Given the description of an element on the screen output the (x, y) to click on. 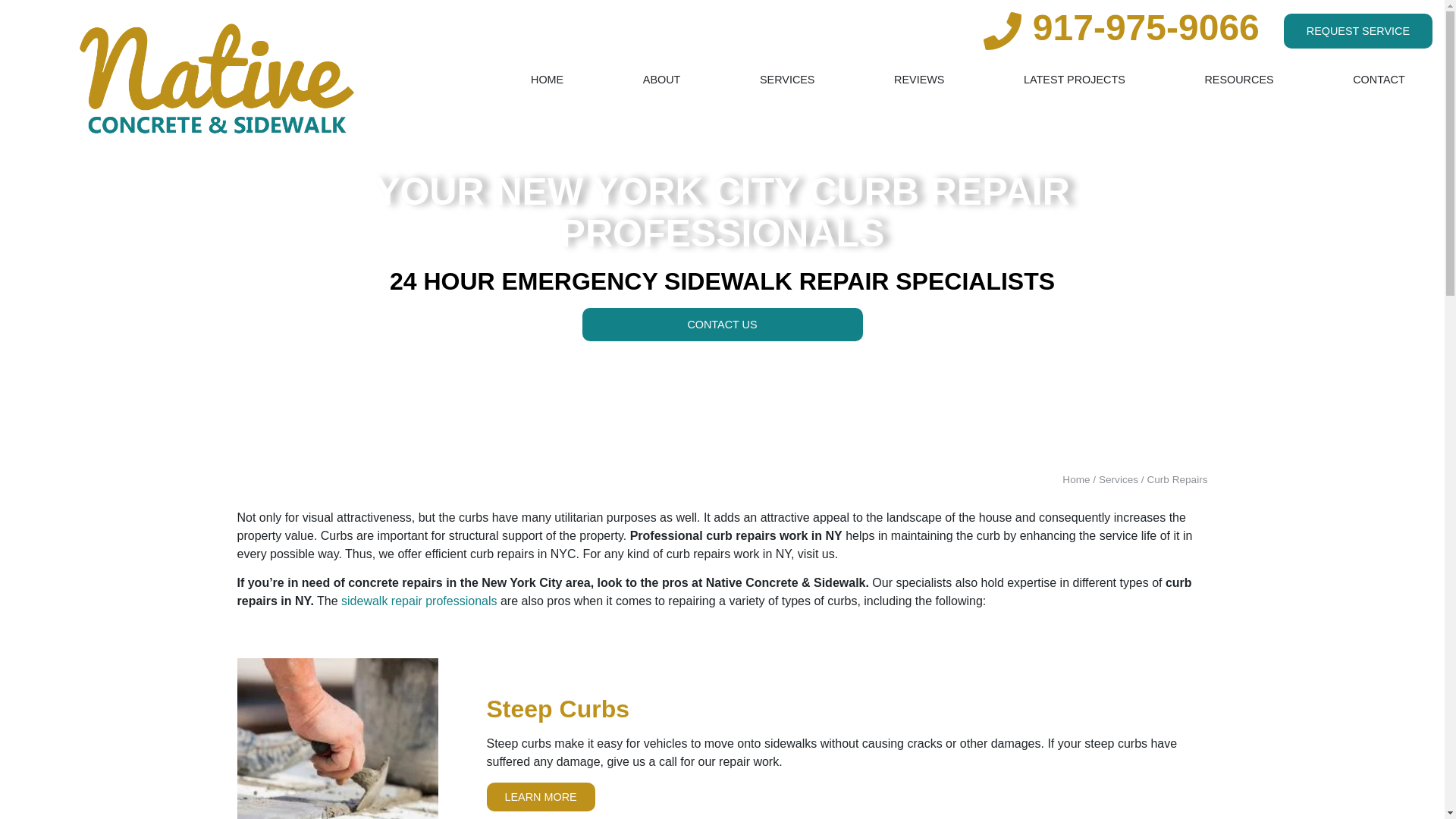
ABOUT (660, 80)
REVIEWS (919, 80)
SERVICES (787, 80)
REQUEST SERVICE (1358, 30)
HOME (548, 80)
917-975-9066 (1145, 27)
LATEST PROJECTS (1074, 80)
RESOURCES (1238, 80)
